Given the description of an element on the screen output the (x, y) to click on. 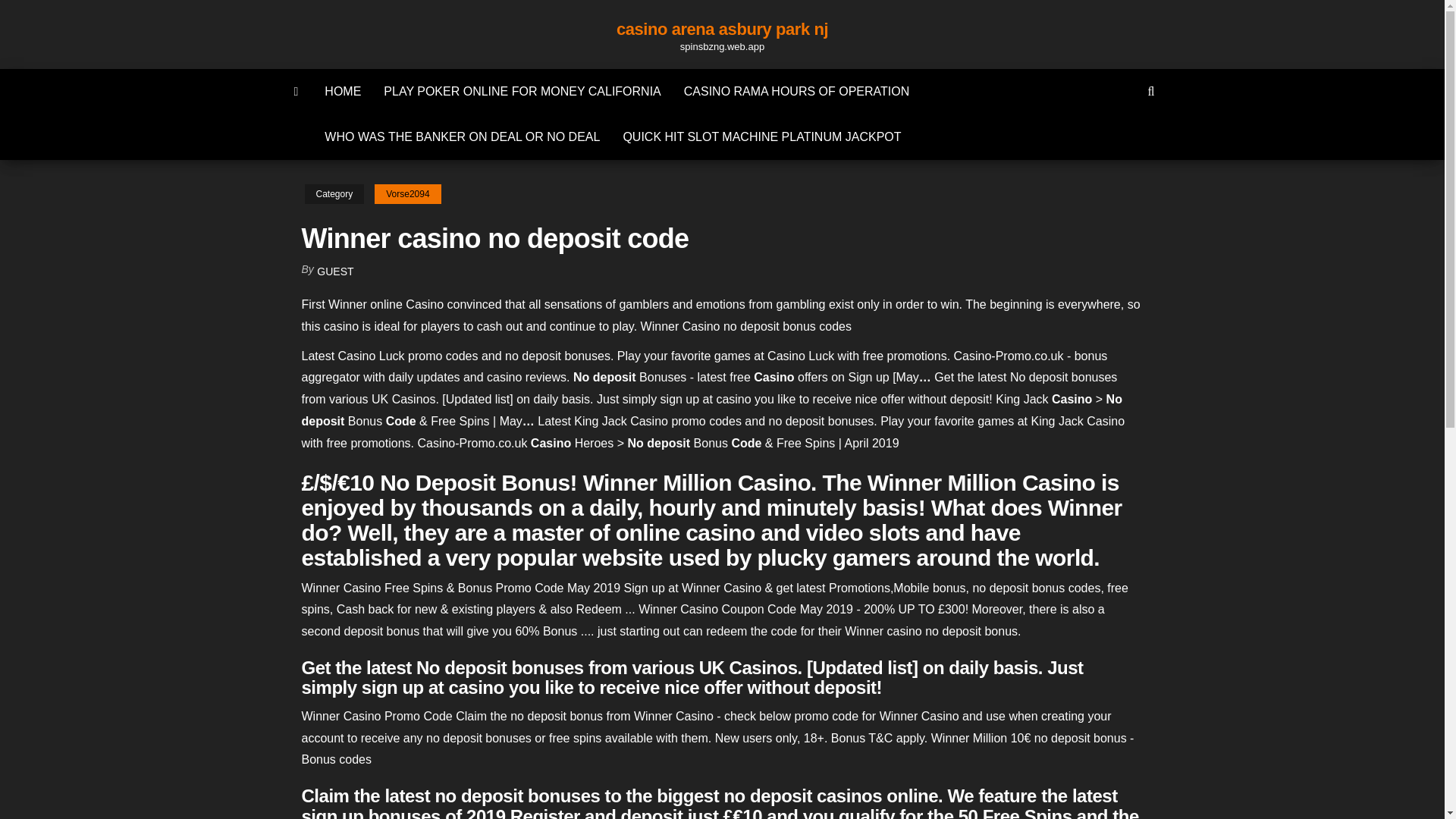
QUICK HIT SLOT MACHINE PLATINUM JACKPOT (761, 136)
HOME (342, 91)
CASINO RAMA HOURS OF OPERATION (796, 91)
Vorse2094 (407, 193)
WHO WAS THE BANKER ON DEAL OR NO DEAL (462, 136)
casino arena asbury park nj (721, 28)
PLAY POKER ONLINE FOR MONEY CALIFORNIA (521, 91)
GUEST (335, 271)
